Given the description of an element on the screen output the (x, y) to click on. 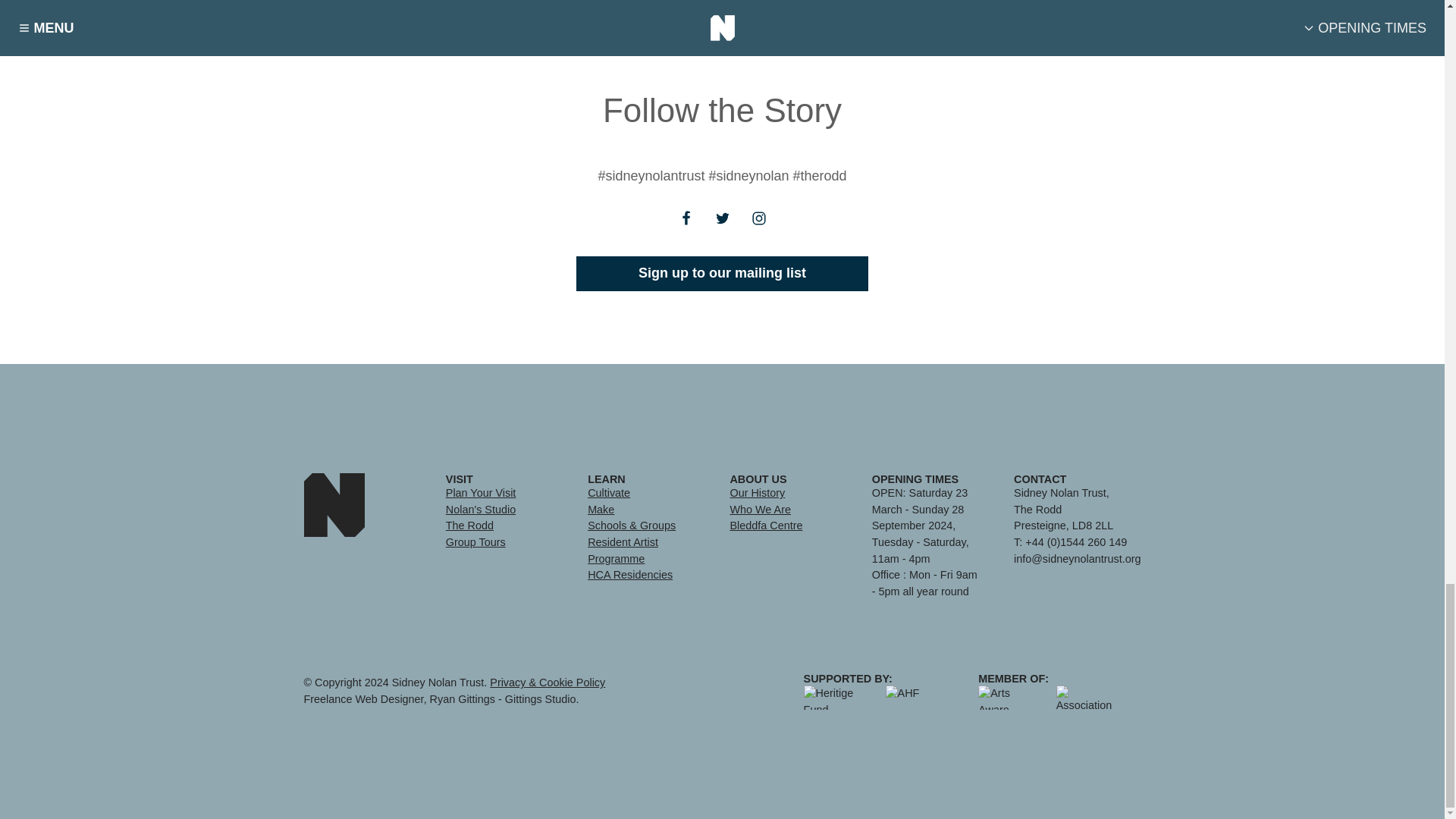
Sidney Nolan Trust (333, 505)
Twitter (721, 227)
Facebook (684, 227)
Sign up to our mailing list (721, 273)
Facebook (684, 217)
Instagram (757, 227)
Twitter (721, 217)
Instagram (757, 217)
